Given the description of an element on the screen output the (x, y) to click on. 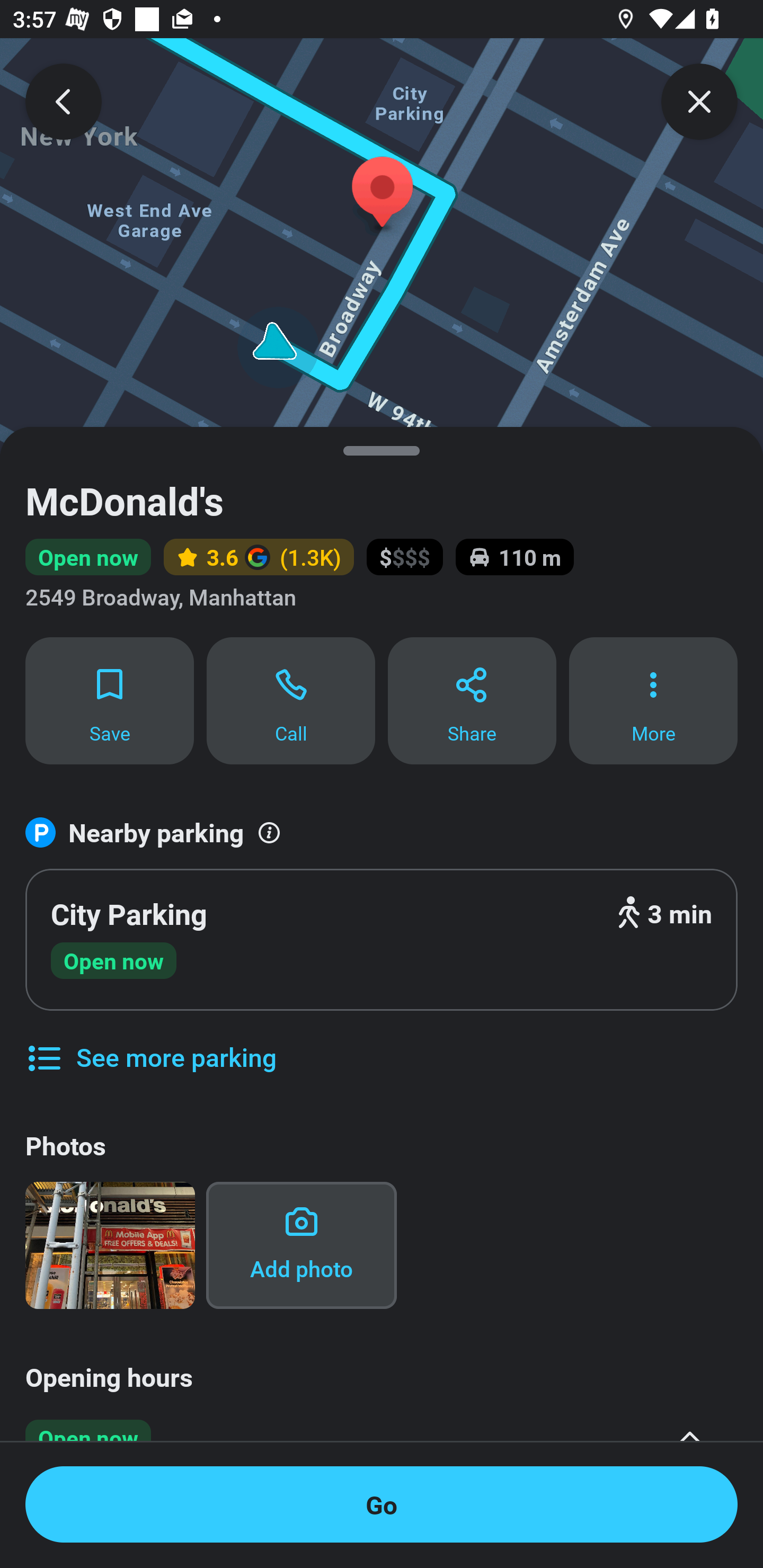
Save (109, 700)
Call (290, 700)
Share (471, 700)
More (653, 700)
City Parking 3 min Open now (381, 939)
See more parking (150, 1043)
Add photo (301, 1245)
Go (381, 1504)
